Given the description of an element on the screen output the (x, y) to click on. 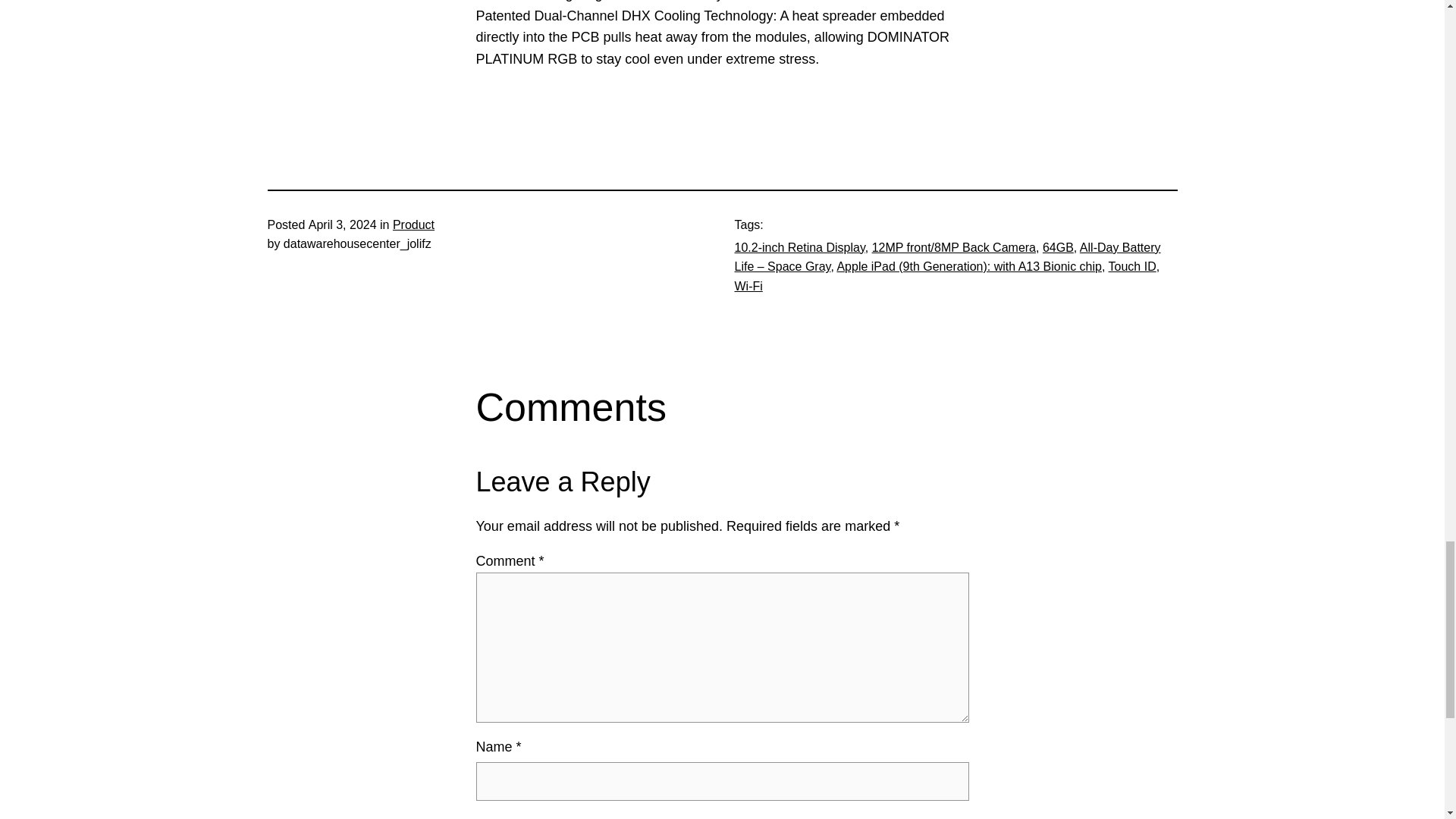
Wi-Fi (747, 286)
Product (413, 224)
Touch ID (1132, 266)
64GB (1058, 246)
10.2-inch Retina Display (798, 246)
